Given the description of an element on the screen output the (x, y) to click on. 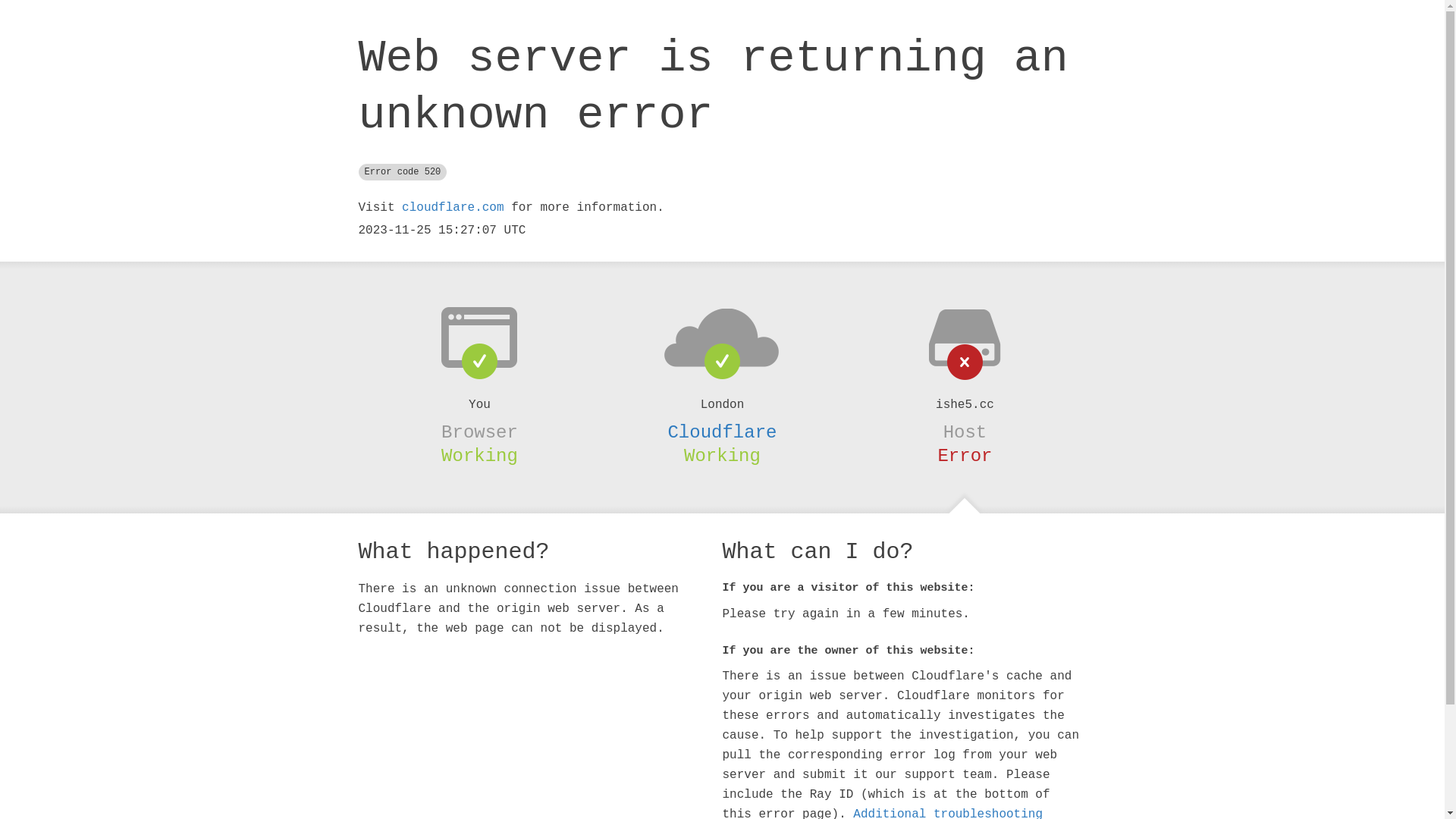
cloudflare.com Element type: text (452, 207)
Cloudflare Element type: text (721, 432)
